Given the description of an element on the screen output the (x, y) to click on. 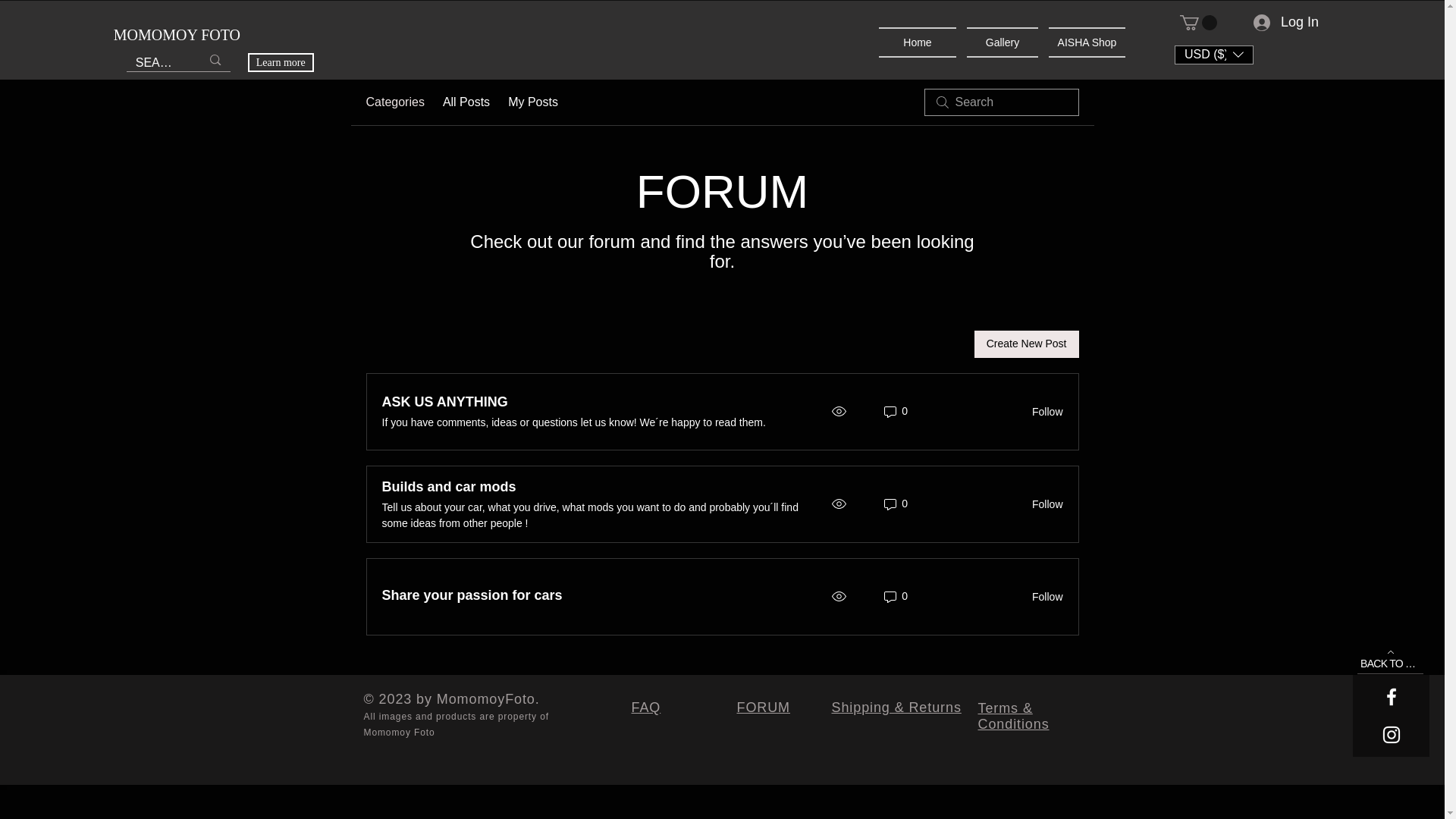
Home (919, 42)
AISHA Shop (1084, 42)
ASK US ANYTHING (444, 402)
All Posts (465, 102)
Gallery (1001, 42)
BACK TO TOP (1389, 659)
Follow (1042, 411)
FORUM (763, 707)
Follow (1042, 596)
Share your passion for cars (471, 595)
Categories (394, 102)
FAQ (645, 707)
Log In (1286, 22)
Learn more (280, 62)
Follow (1042, 503)
